Given the description of an element on the screen output the (x, y) to click on. 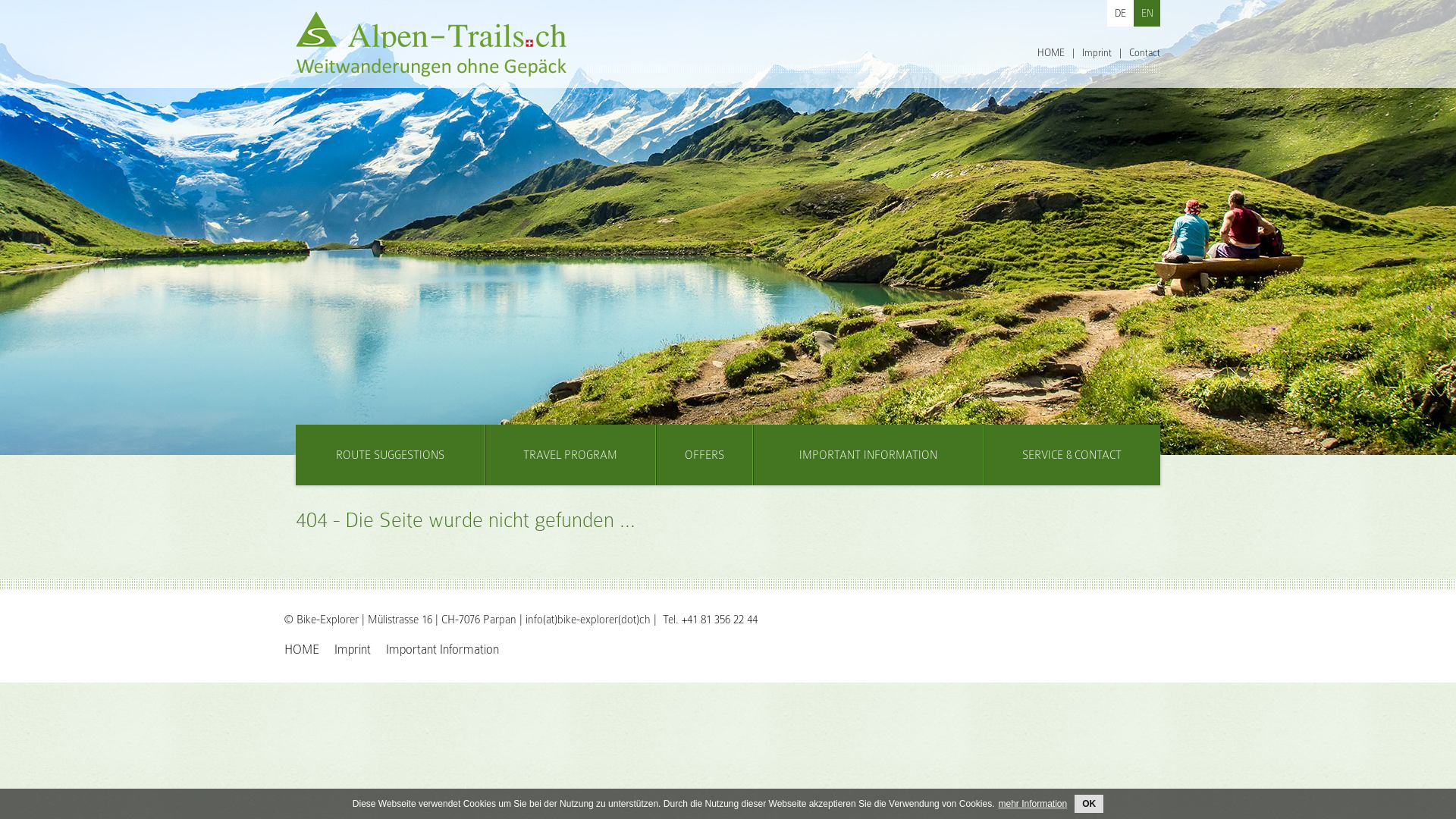
SERVICE & CONTACT Element type: text (1072, 454)
ROUTE SUGGESTIONS Element type: text (389, 454)
OK Element type: text (1088, 803)
mehr Information Element type: text (1031, 803)
IMPORTANT INFORMATION Element type: text (867, 454)
HOME Element type: text (1050, 52)
OFFERS Element type: text (704, 454)
DE Element type: text (1120, 13)
Imprint Element type: text (352, 649)
EN Element type: text (1146, 13)
TRAVEL PROGRAM Element type: text (570, 454)
HOME Element type: text (301, 649)
info(at)bike-explorer(dot)ch Element type: text (587, 619)
Contact Element type: text (1144, 52)
Imprint Element type: text (1096, 52)
Important Information Element type: text (442, 649)
